Given the description of an element on the screen output the (x, y) to click on. 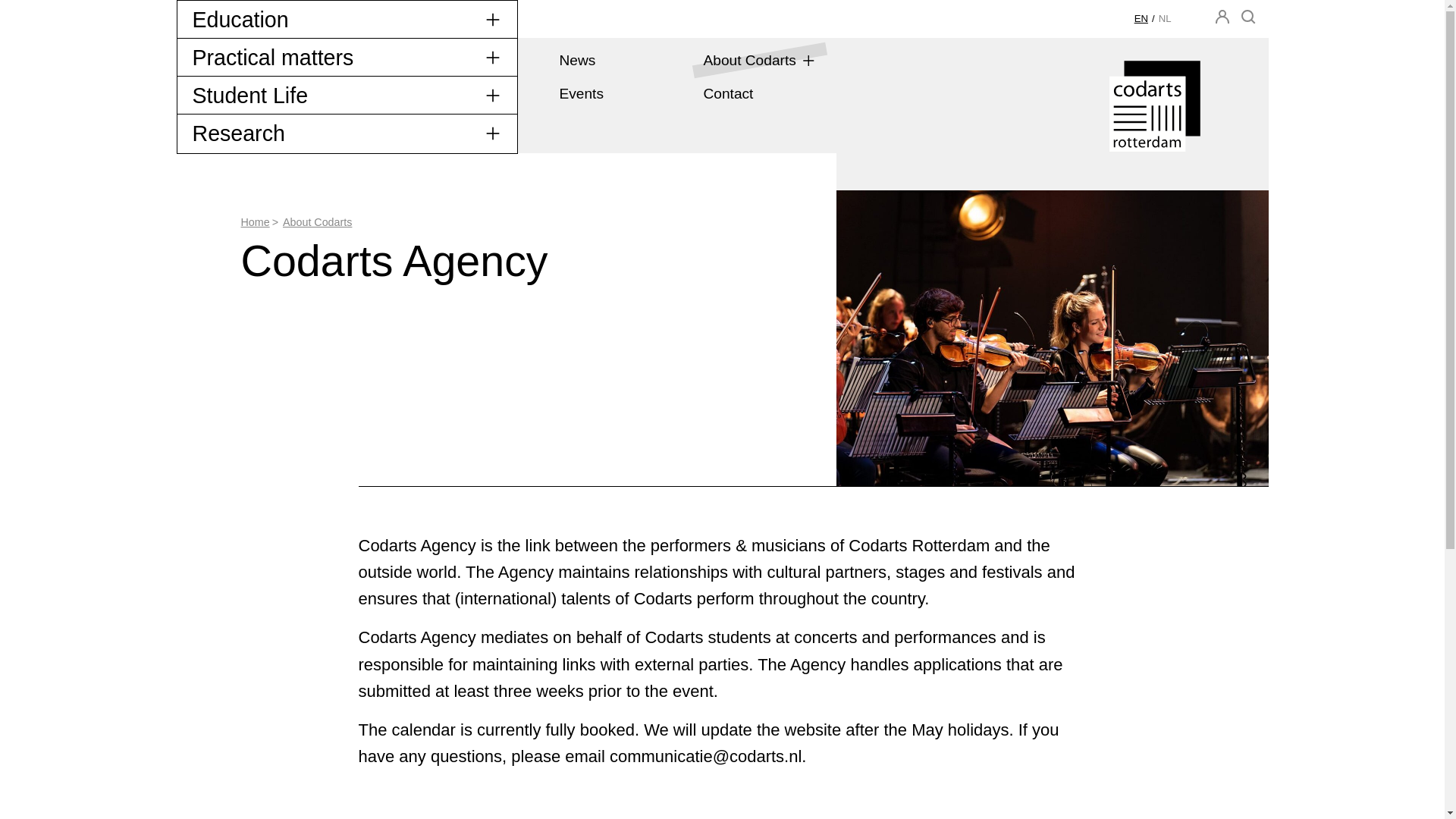
Practical matters (346, 56)
Education (346, 19)
